Given the description of an element on the screen output the (x, y) to click on. 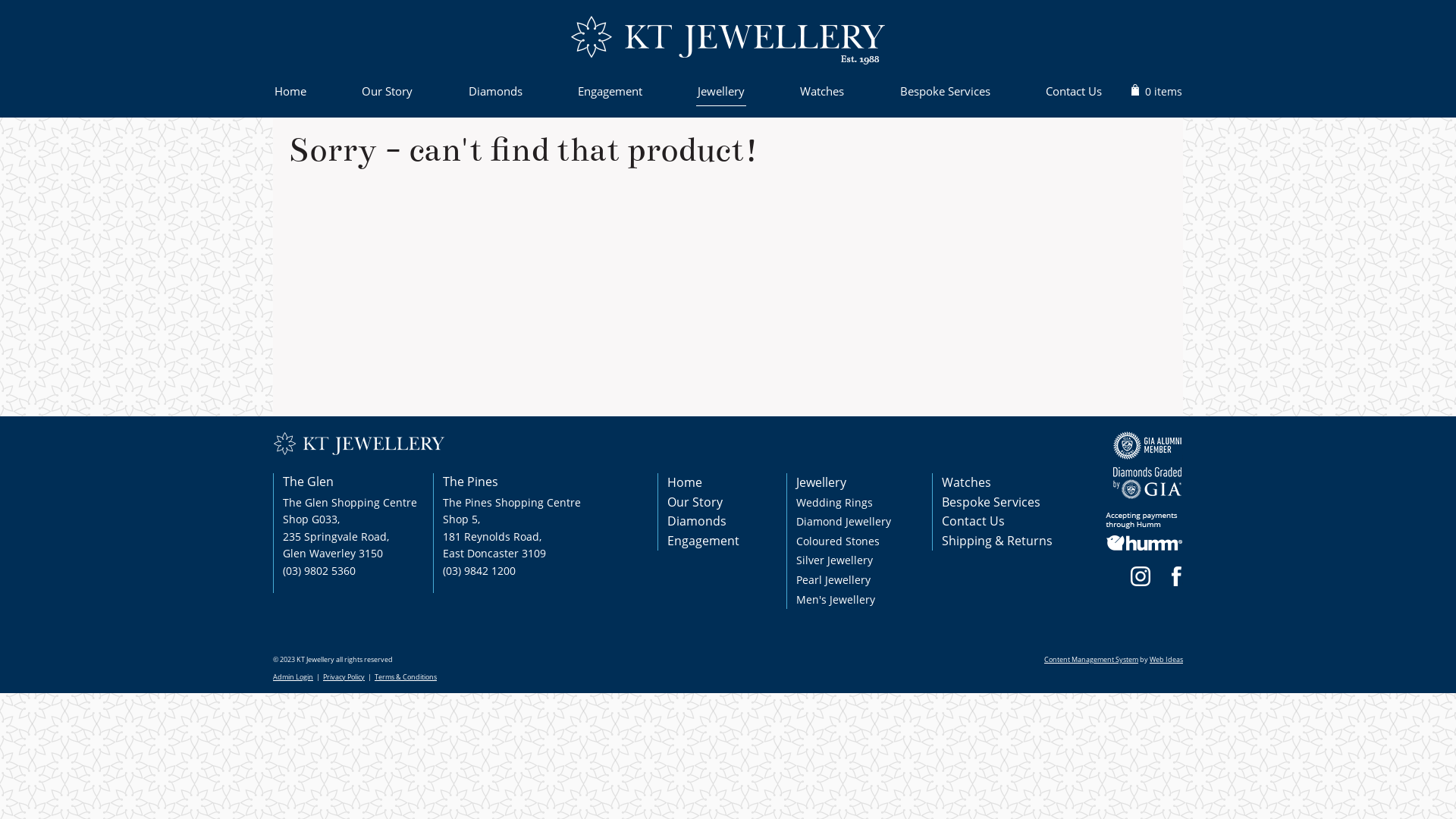
Contact Us Element type: text (972, 520)
Silver Jewellery Element type: text (834, 559)
Jewellery Element type: text (821, 481)
Our Story Element type: text (694, 501)
Privacy Policy Element type: text (343, 676)
Watches Element type: text (821, 93)
Coloured Stones Element type: text (837, 540)
Pearl Jewellery Element type: text (833, 579)
Home Element type: text (288, 93)
Content Management System Element type: text (1091, 659)
Home Element type: text (290, 93)
Shipping & Returns Element type: text (996, 540)
Jewellery Element type: text (329, 93)
(03) 9842 1200 Element type: text (478, 570)
Bespoke Services Element type: text (990, 501)
Watches Element type: text (966, 481)
Diamonds Element type: text (495, 93)
0 items Element type: text (1163, 91)
Wedding Rings Element type: text (834, 502)
Diamonds Element type: text (696, 520)
Engagement Element type: text (609, 93)
Our Story Element type: text (387, 93)
Contact Us Element type: text (1073, 93)
Diamond Jewellery Element type: text (843, 521)
Bespoke Services Element type: text (944, 93)
Home Element type: text (684, 481)
(03) 9802 5360 Element type: text (318, 570)
Terms & Conditions Element type: text (405, 676)
Engagement Element type: text (703, 540)
Admin Login Element type: text (293, 676)
Web Ideas Element type: text (1166, 659)
Men's Jewellery Element type: text (835, 599)
Jewellery Element type: text (721, 93)
